Given the description of an element on the screen output the (x, y) to click on. 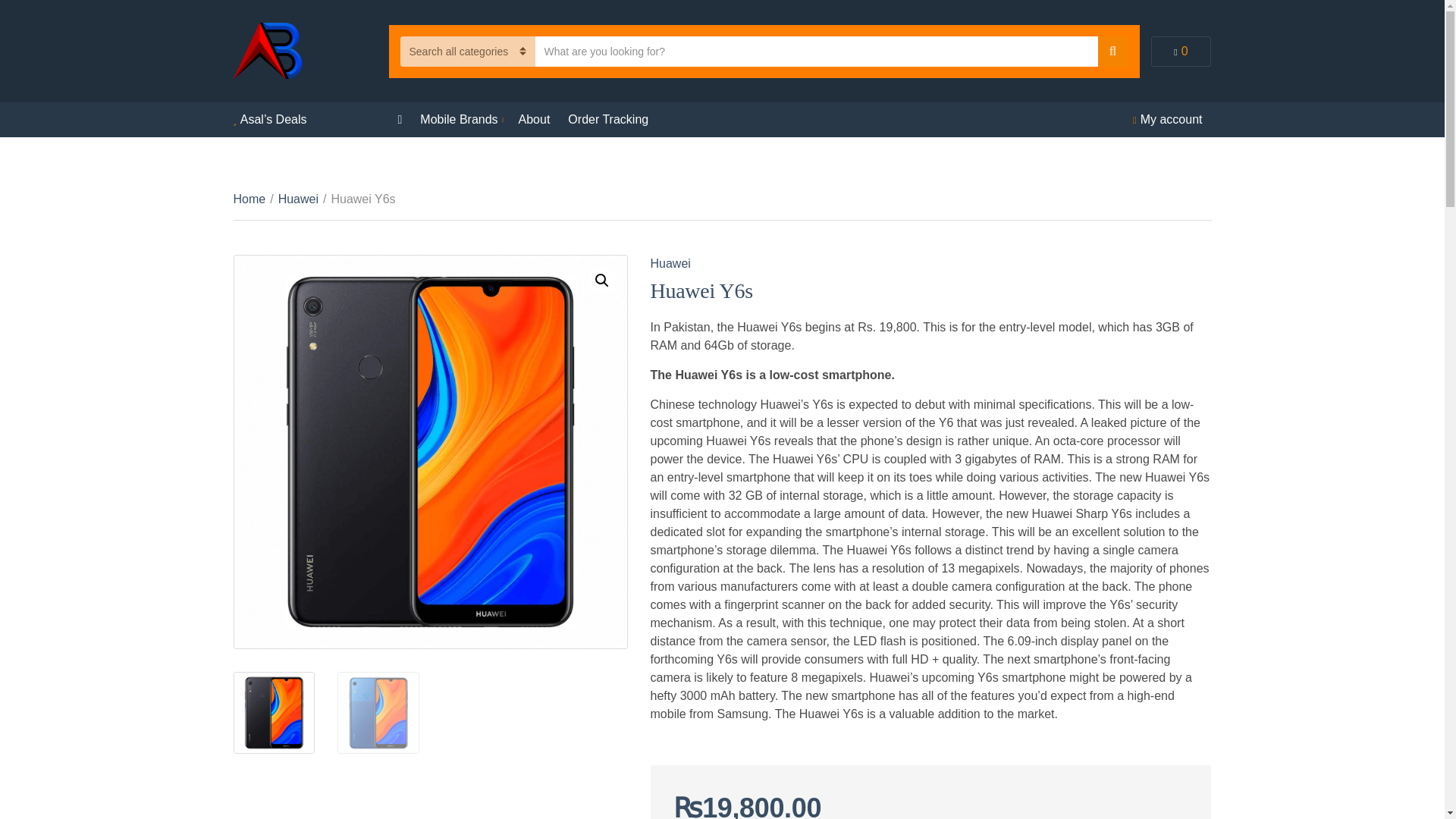
Search (1112, 51)
About (534, 119)
Order Tracking (607, 119)
My account (1171, 119)
Huawei (298, 198)
Mobile Brands (459, 119)
Home (249, 198)
0 (1181, 51)
Huawei (670, 263)
